Given the description of an element on the screen output the (x, y) to click on. 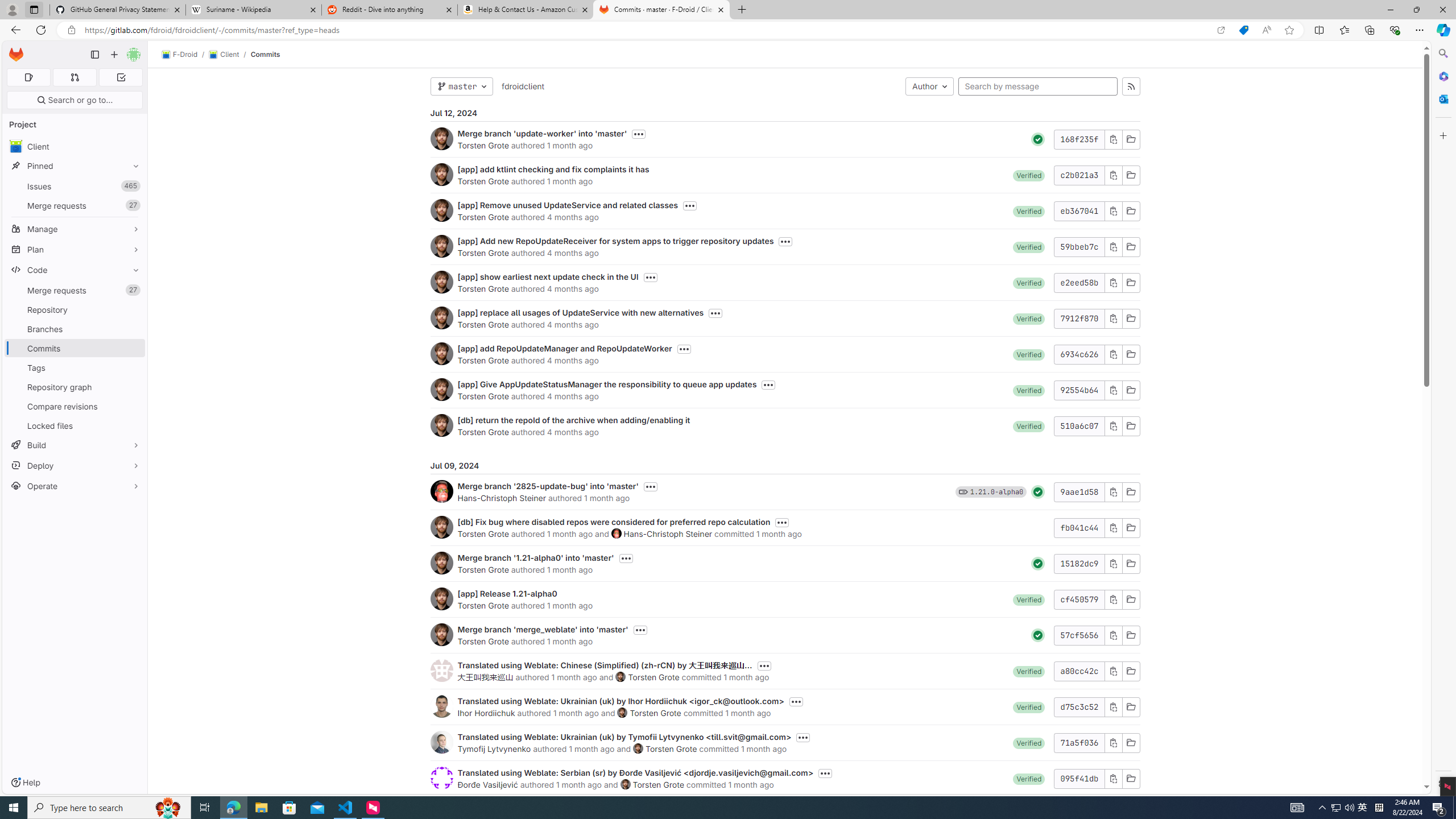
Side bar (1443, 418)
Split screen (1318, 29)
Compare revisions (74, 406)
Help (25, 782)
Favorites (1344, 29)
Merge requests 27 (74, 289)
Read aloud this page (Ctrl+Shift+U) (1266, 29)
Homepage (16, 54)
Pin Locked files (132, 425)
avatar (15, 146)
Create new... (113, 54)
